Given the description of an element on the screen output the (x, y) to click on. 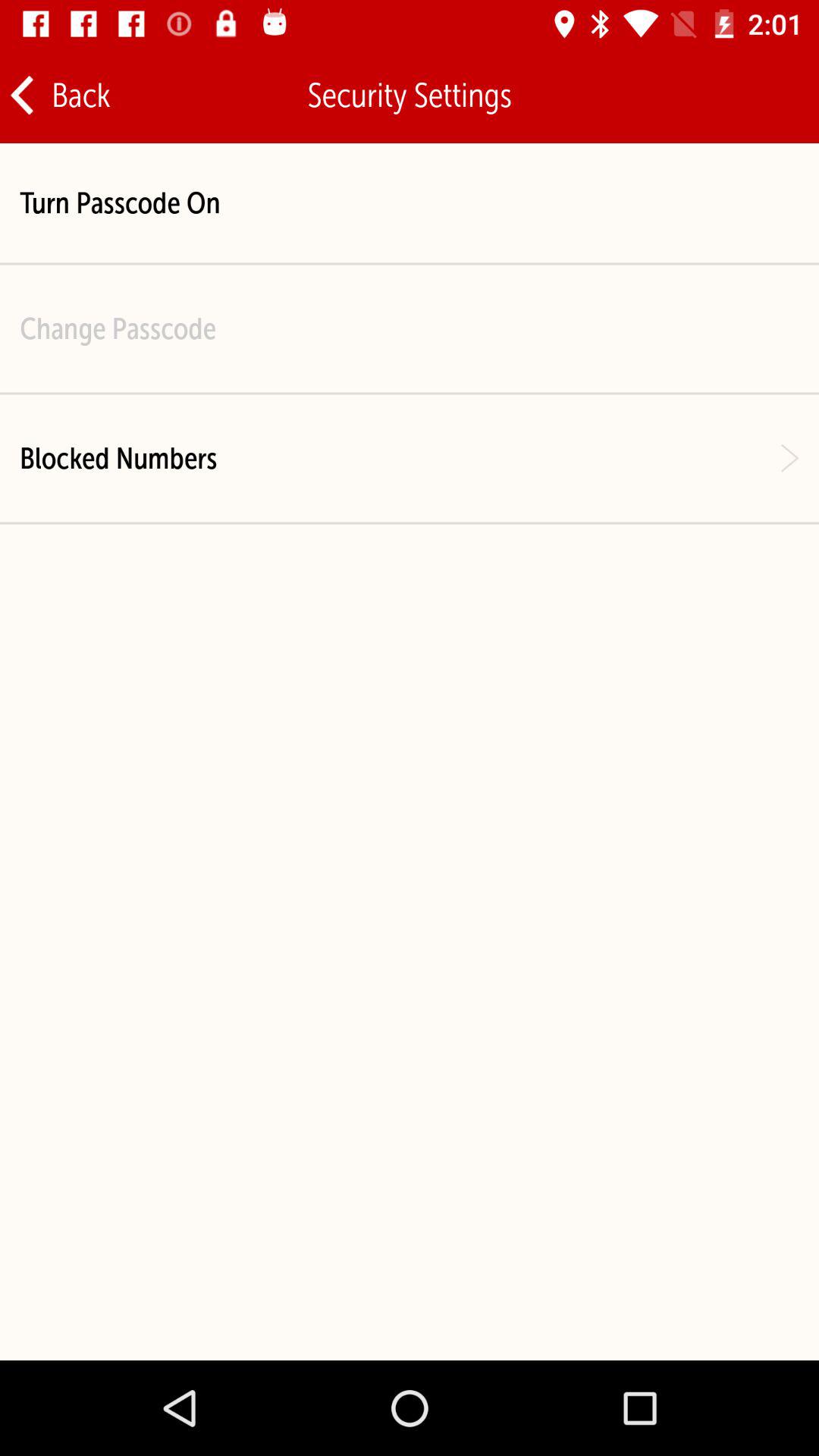
launch back (59, 95)
